Given the description of an element on the screen output the (x, y) to click on. 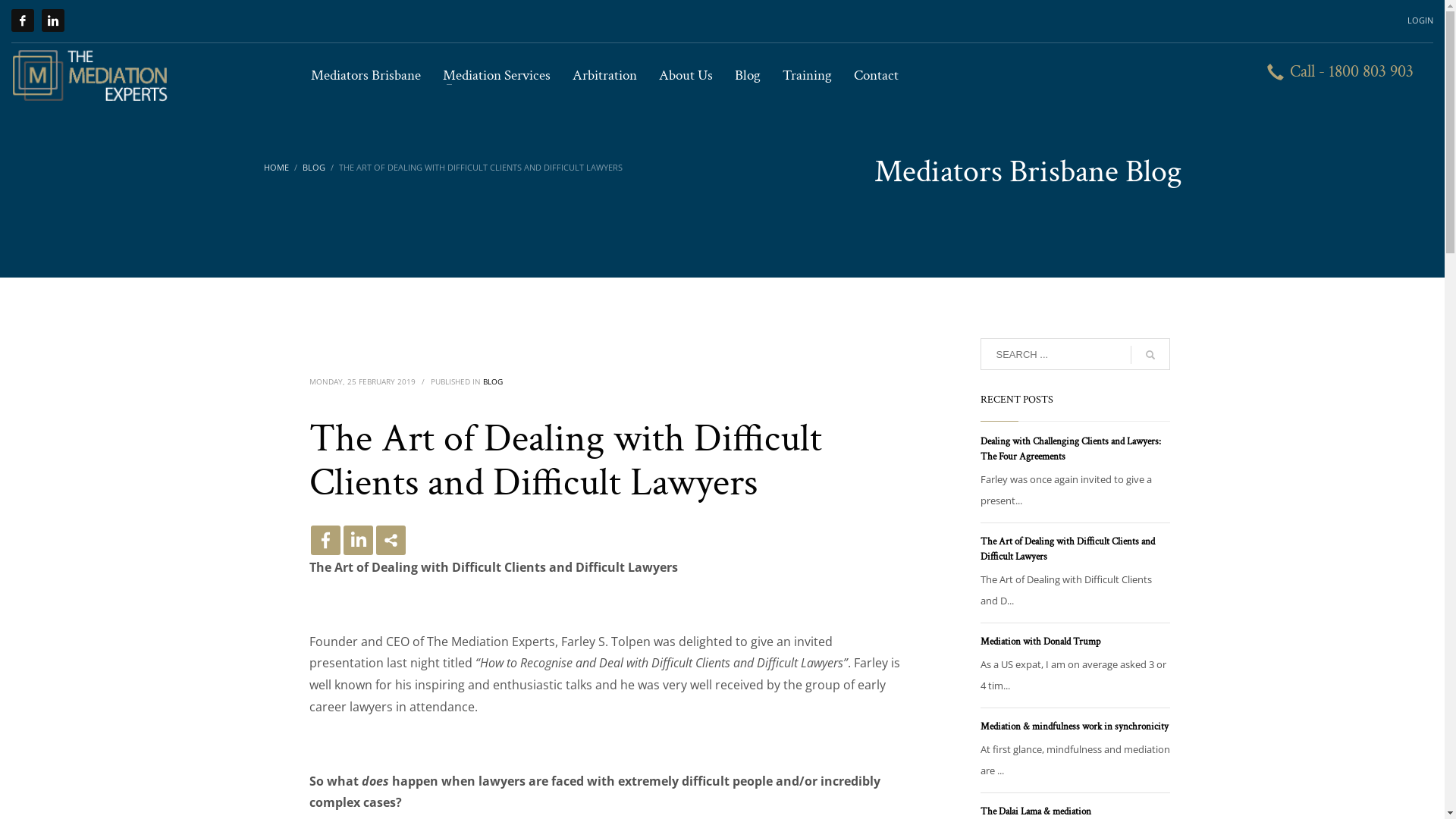
More Element type: hover (390, 540)
BLOG Element type: text (492, 381)
go Element type: text (1149, 354)
Mediators Brisbane Element type: text (365, 75)
LOGIN Element type: text (1420, 19)
Call - 1800 803 903 Element type: text (1340, 75)
Arbitration Element type: text (604, 75)
Mediation Services Element type: text (496, 75)
Training Element type: text (806, 75)
HOME Element type: text (275, 166)
Contact Element type: text (871, 75)
Mediation with Donald Trump Element type: text (1039, 641)
Blog Element type: text (747, 75)
About Us Element type: text (685, 75)
Facebook Element type: hover (22, 20)
Mediation & mindfulness work in synchronicity Element type: text (1073, 726)
LinkedIn Element type: hover (52, 20)
Mediators Brisbane Element type: hover (90, 75)
BLOG Element type: text (312, 166)
Linkedin Element type: hover (357, 540)
The Dalai Lama & mediation Element type: text (1034, 811)
Facebook Element type: hover (325, 540)
